Given the description of an element on the screen output the (x, y) to click on. 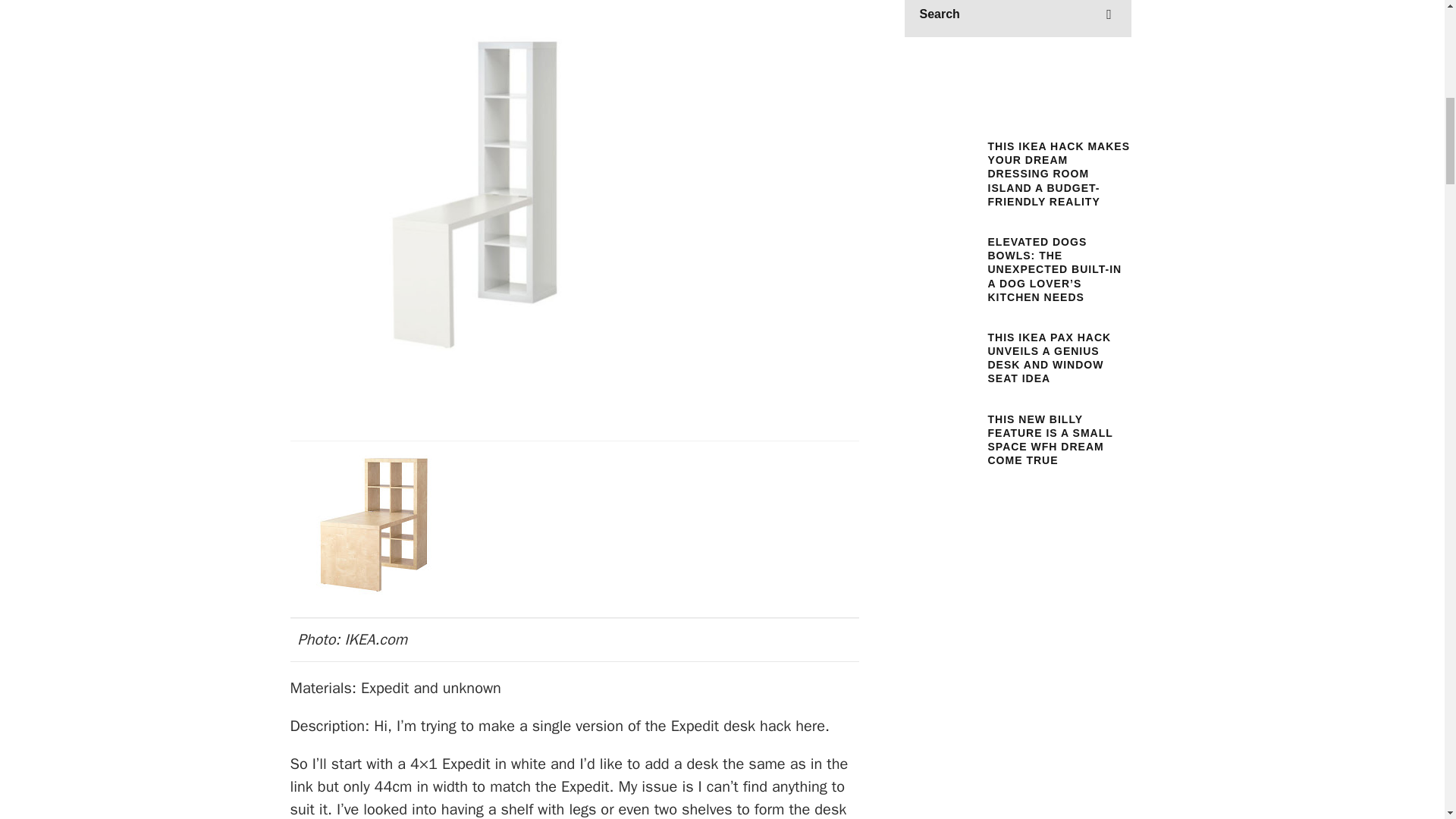
Hacker help: How to hack a single Expedit and desk 5 (372, 524)
